Given the description of an element on the screen output the (x, y) to click on. 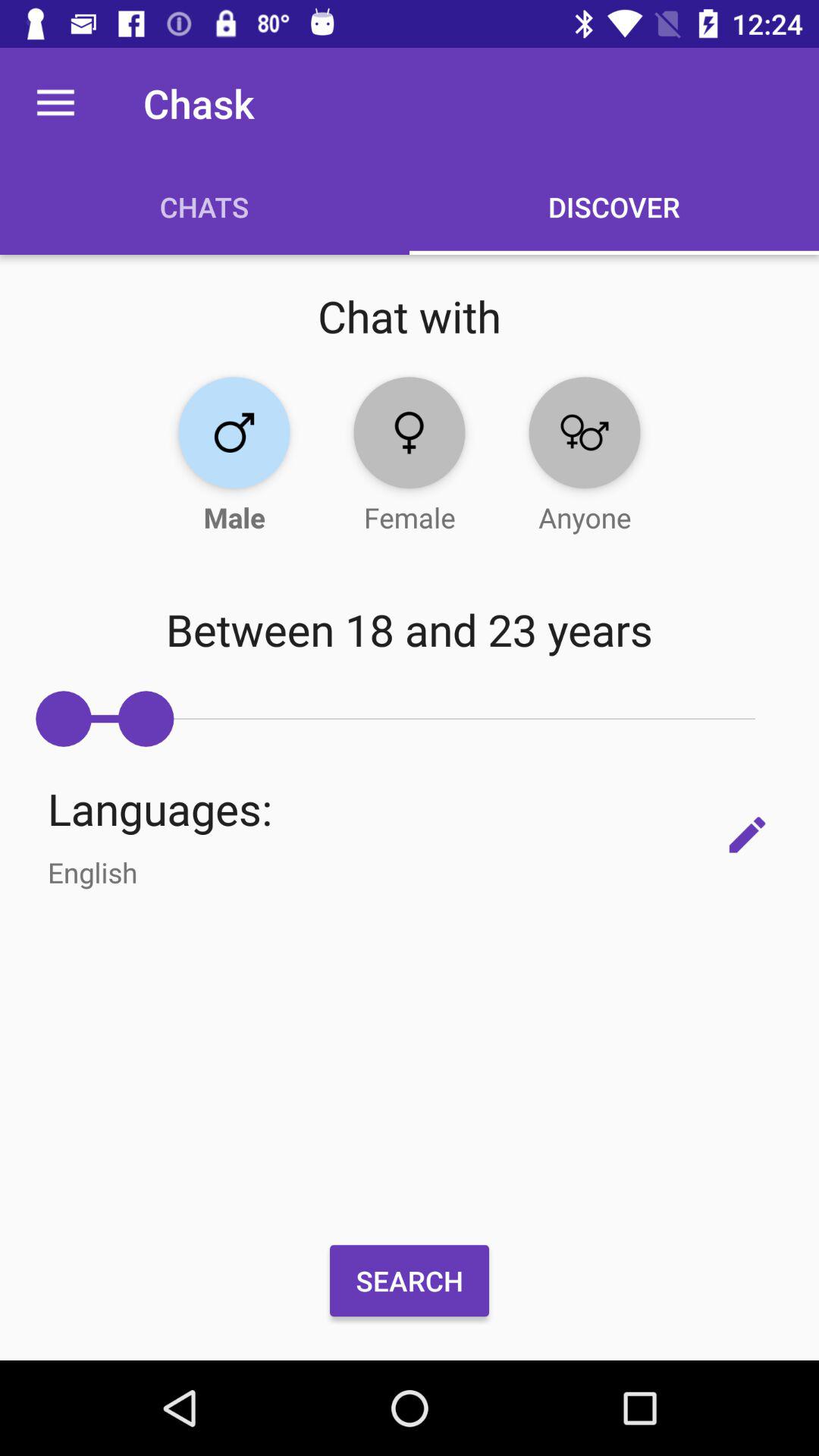
female gender (409, 432)
